Given the description of an element on the screen output the (x, y) to click on. 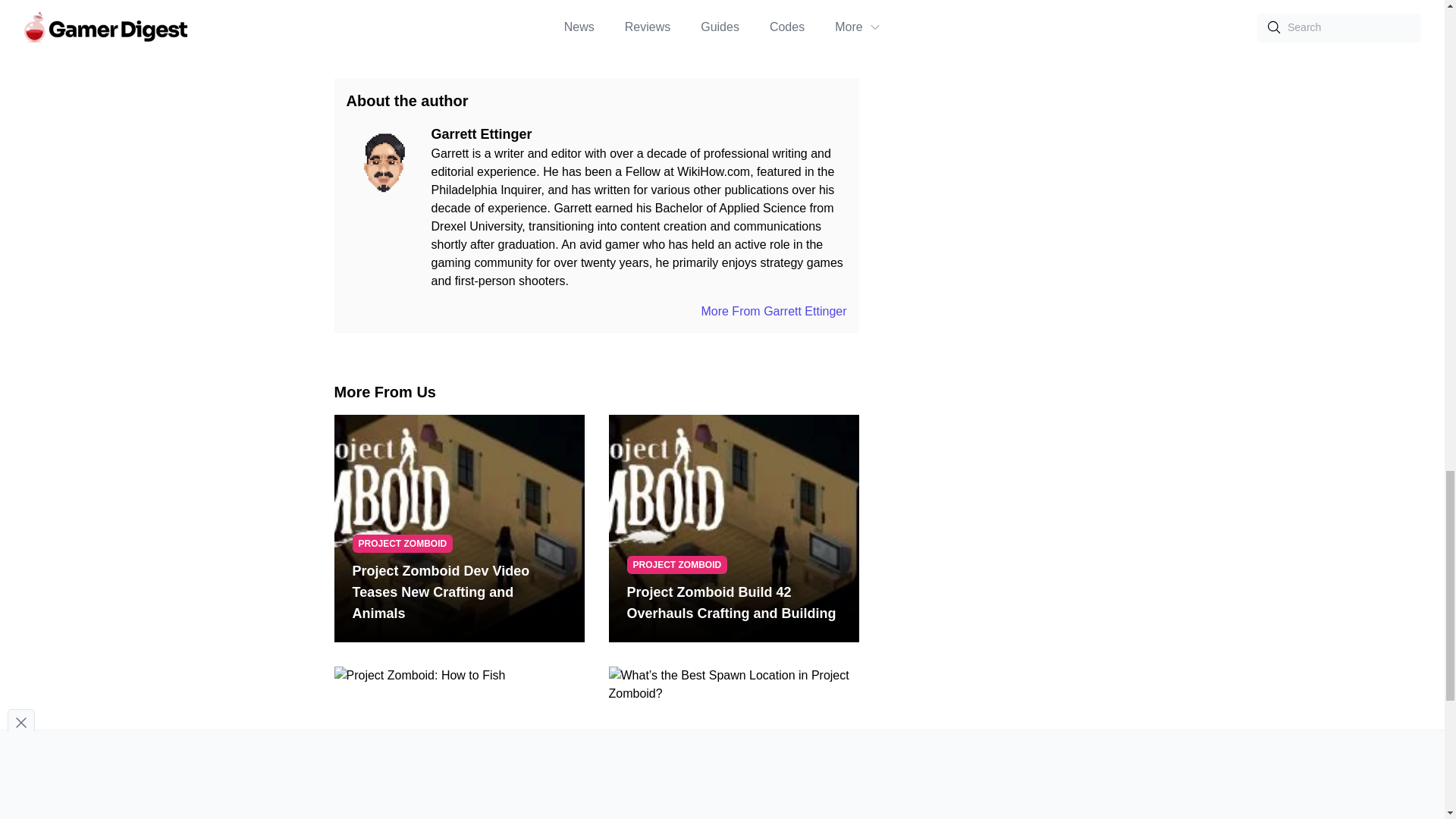
PROJECT ZOMBOID (402, 543)
Project Zomboid Section (574, 17)
Project Zomboid Dev Video Teases New Crafting and Animals (459, 592)
PROJECT ZOMBOID (676, 813)
Project Zomboid Build 42 Overhauls Crafting and Building (733, 602)
More From Garrett Ettinger (772, 310)
PROJECT ZOMBOID (676, 565)
